Given the description of an element on the screen output the (x, y) to click on. 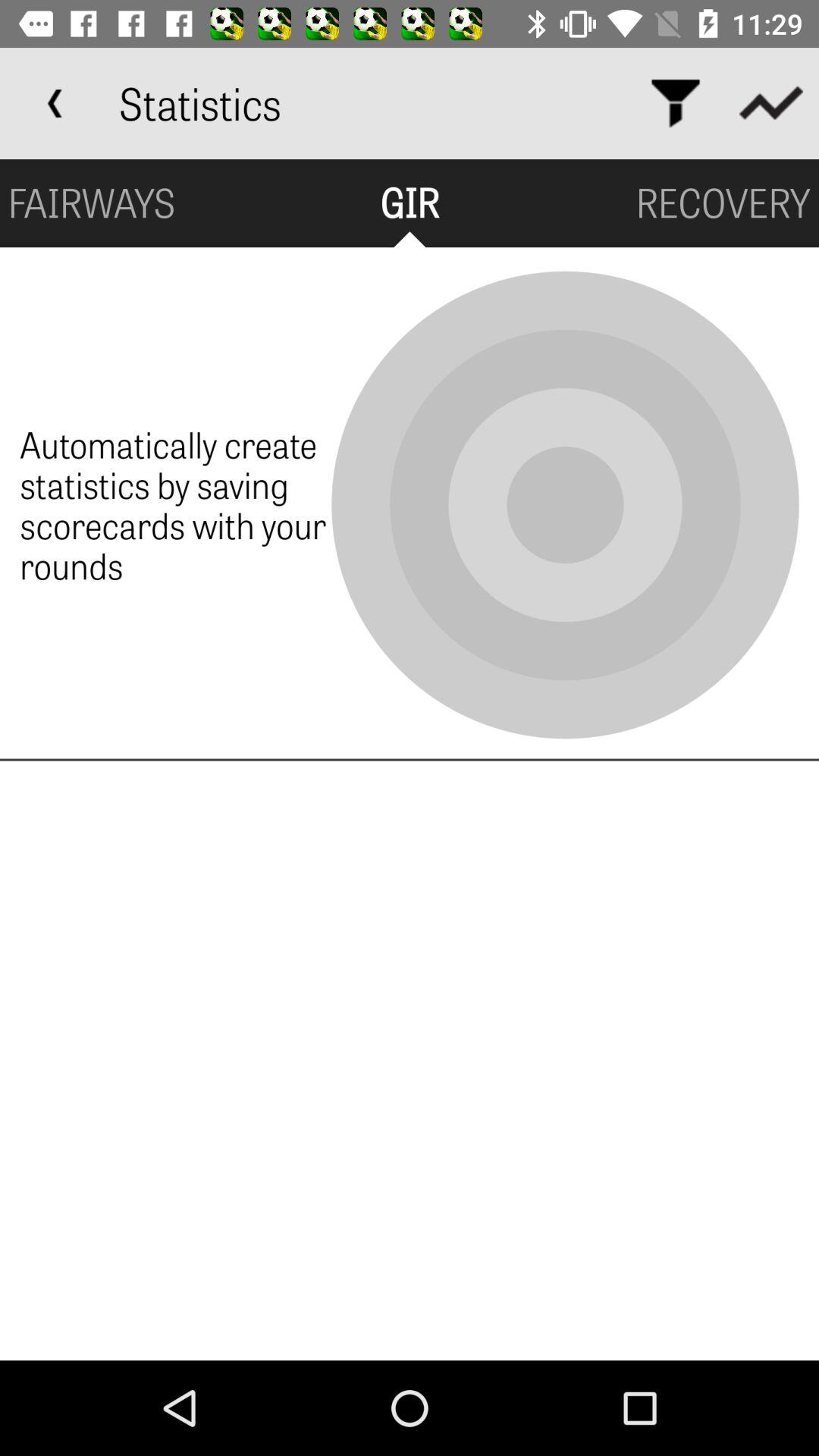
press the app to the right of the statistics (675, 103)
